Given the description of an element on the screen output the (x, y) to click on. 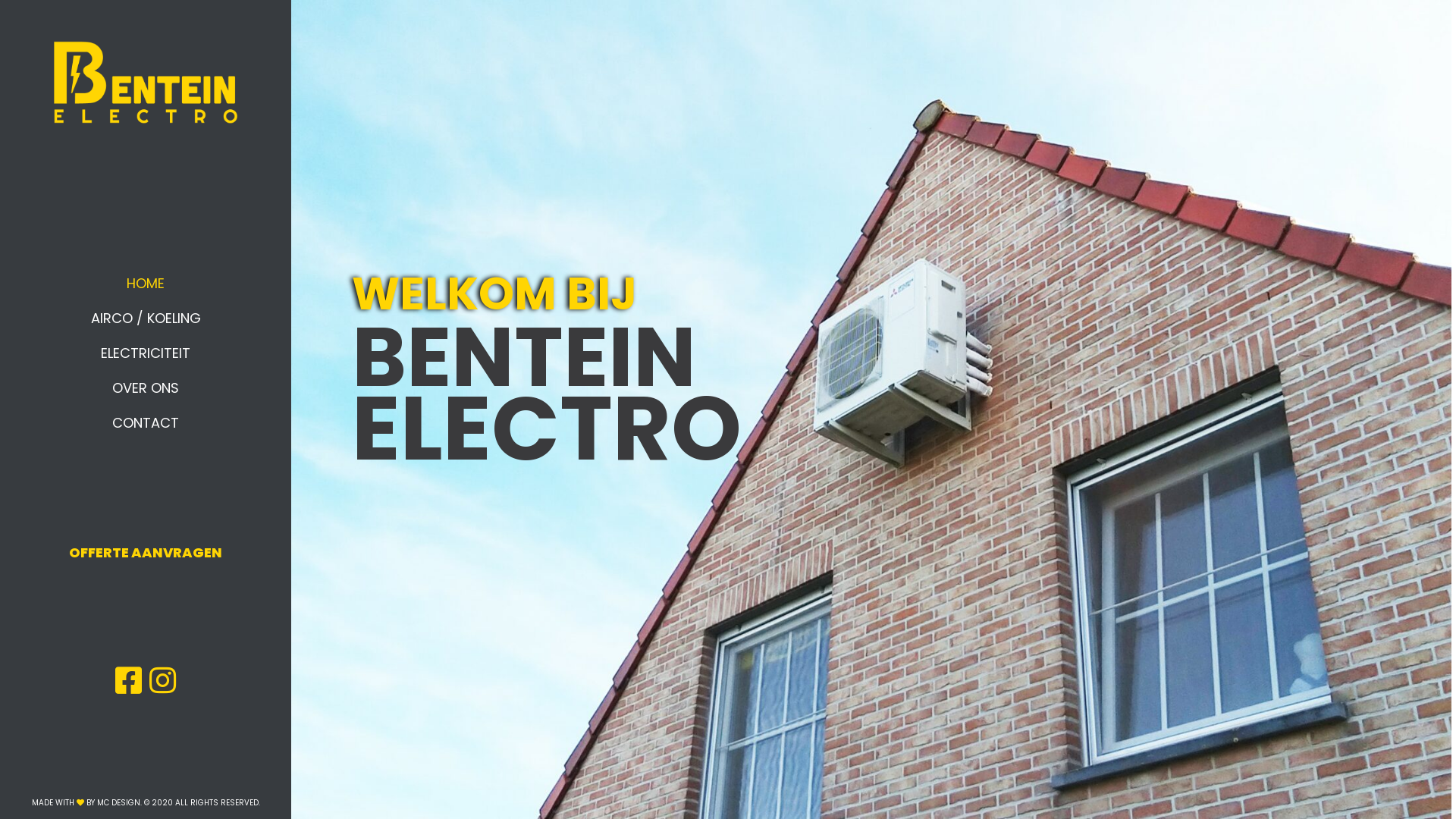
ELECTRICITEIT Element type: text (145, 352)
OFFERTE AANVRAGEN Element type: text (145, 551)
OVER ONS Element type: text (145, 387)
MC DESIGN Element type: text (118, 802)
HOME Element type: text (145, 283)
AIRCO / KOELING Element type: text (145, 318)
CONTACT Element type: text (145, 422)
